Given the description of an element on the screen output the (x, y) to click on. 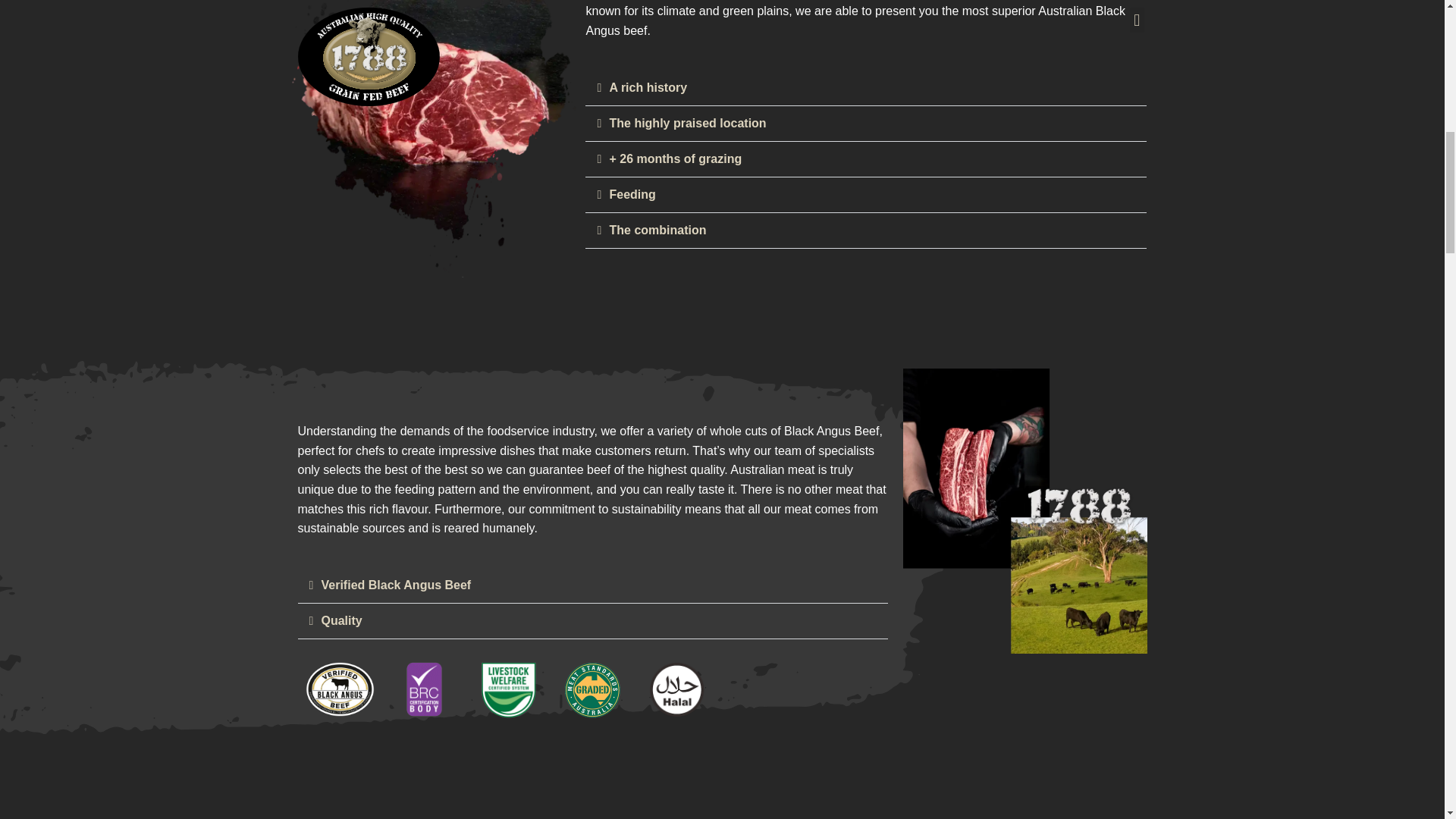
A rich history (647, 87)
Quality (341, 620)
Verified Black Angus Beef (396, 584)
The combination (657, 229)
Feeding (631, 194)
The highly praised location (686, 123)
